Given the description of an element on the screen output the (x, y) to click on. 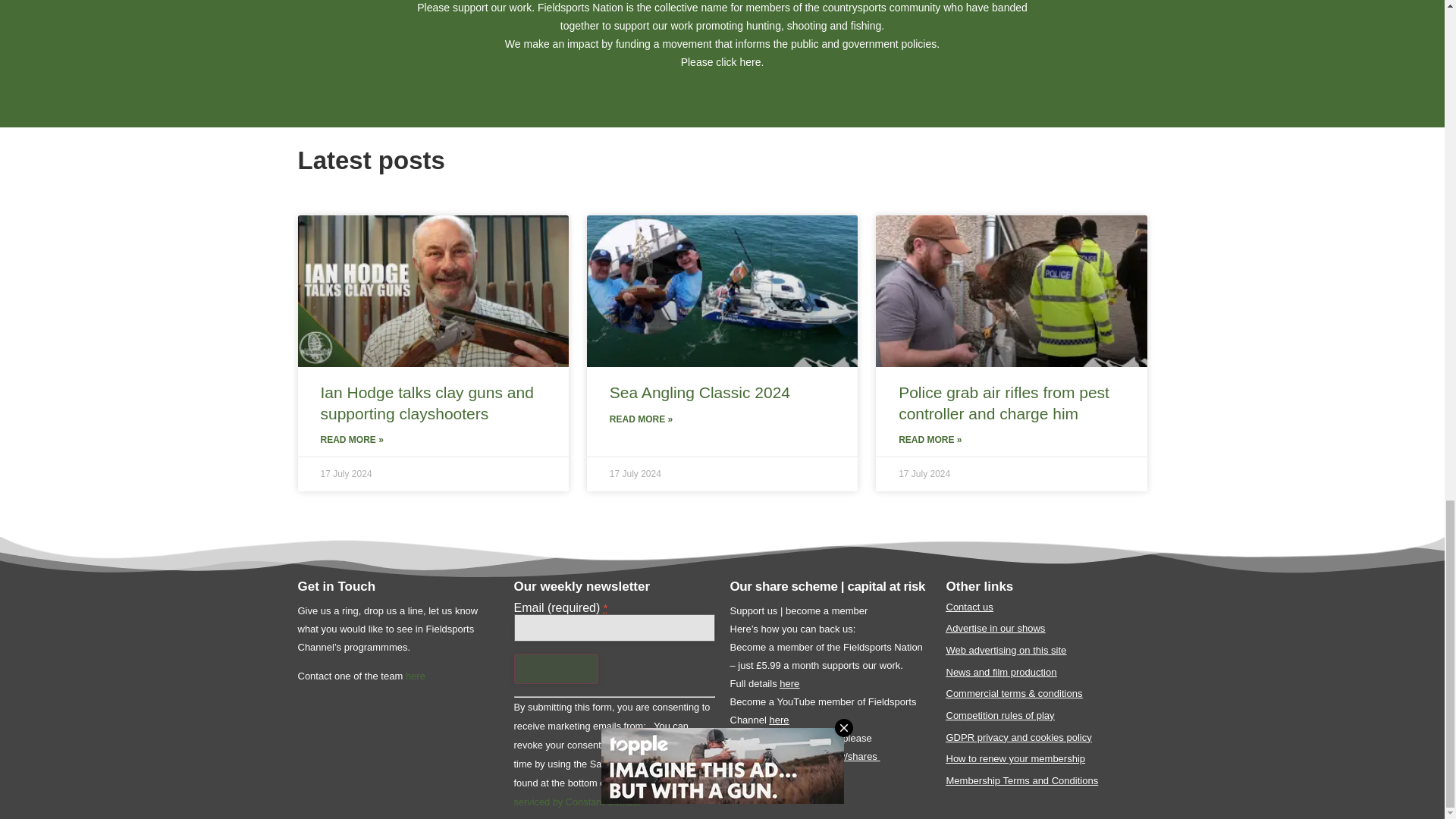
Sign up (555, 668)
